Given the description of an element on the screen output the (x, y) to click on. 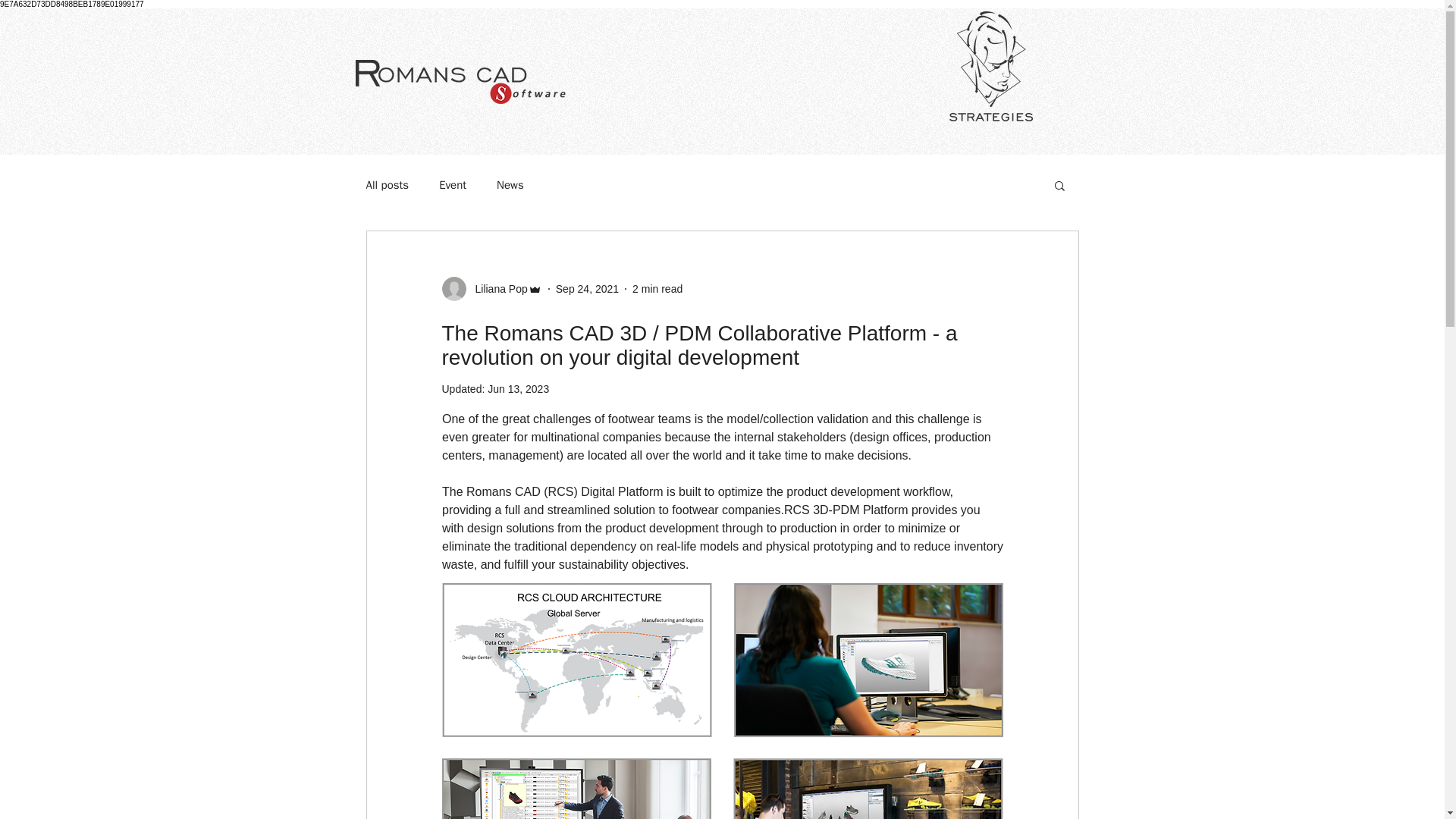
Liliana Pop (491, 288)
Liliana Pop (496, 288)
Sep 24, 2021 (587, 287)
All posts (387, 184)
2 min read (656, 287)
Event (452, 184)
Jun 13, 2023 (517, 388)
News (510, 184)
